Given the description of an element on the screen output the (x, y) to click on. 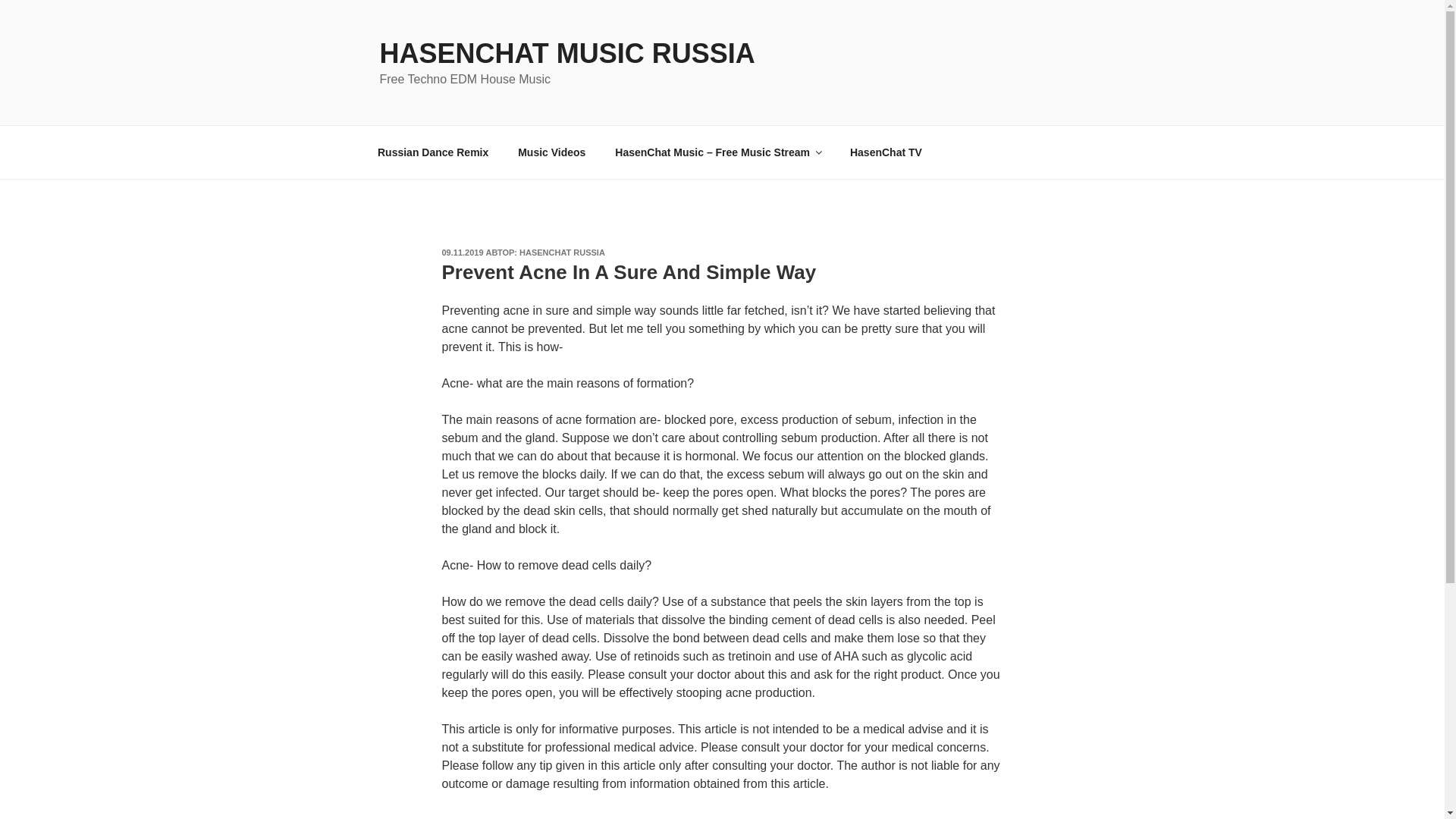
09.11.2019 (462, 252)
HASENCHAT MUSIC RUSSIA (566, 52)
Music Videos (551, 151)
HasenChat TV (884, 151)
HASENCHAT RUSSIA (562, 252)
Russian Dance Remix (432, 151)
